Given the description of an element on the screen output the (x, y) to click on. 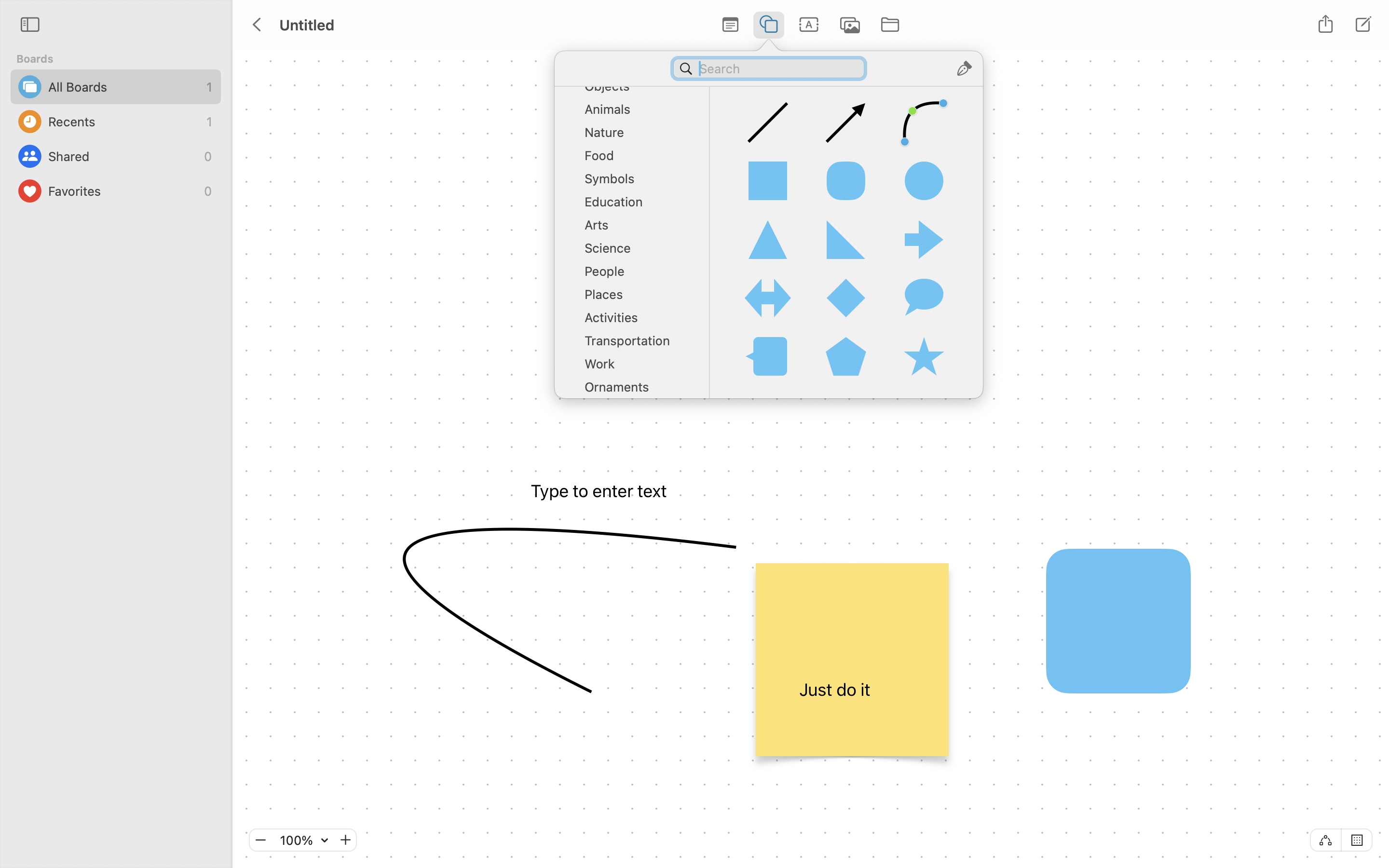
Science Element type: AXStaticText (636, 251)
Symbols Element type: AXStaticText (636, 181)
Boards Element type: AXStaticText (121, 58)
Favorites Element type: AXStaticText (123, 190)
